Given the description of an element on the screen output the (x, y) to click on. 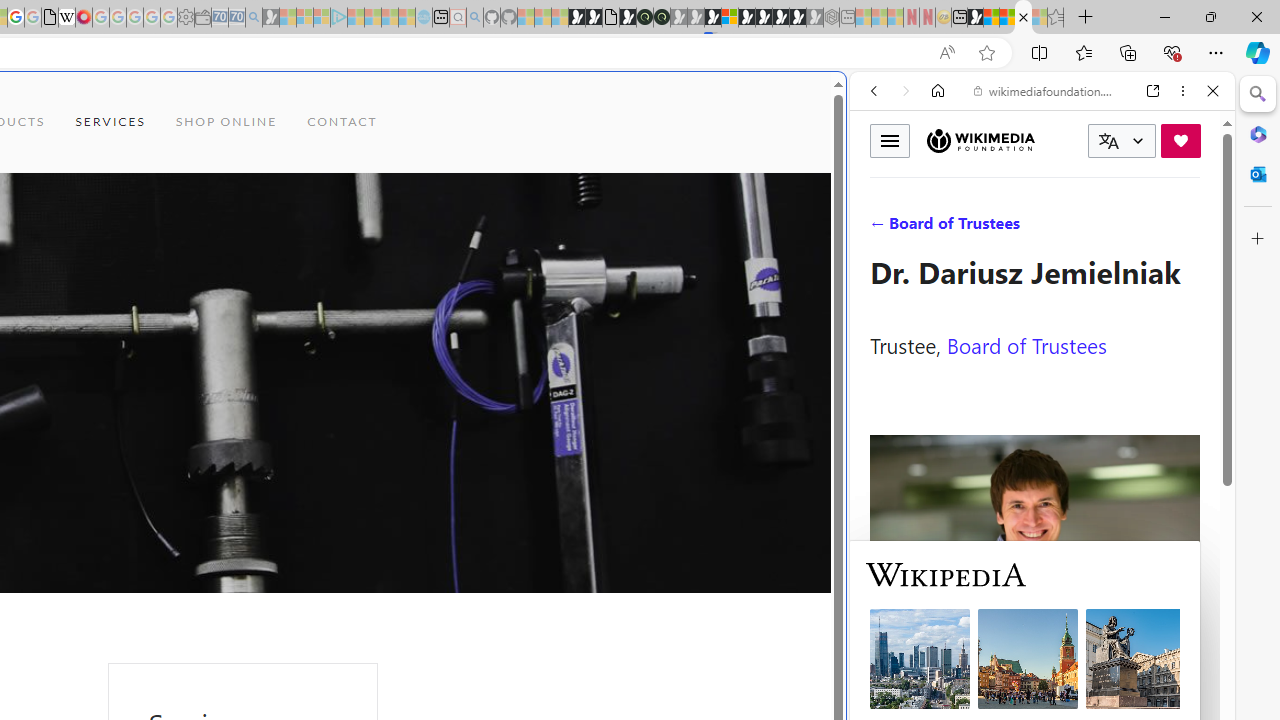
Favorites - Sleeping (1055, 17)
Microsoft Start Gaming - Sleeping (270, 17)
